Given the description of an element on the screen output the (x, y) to click on. 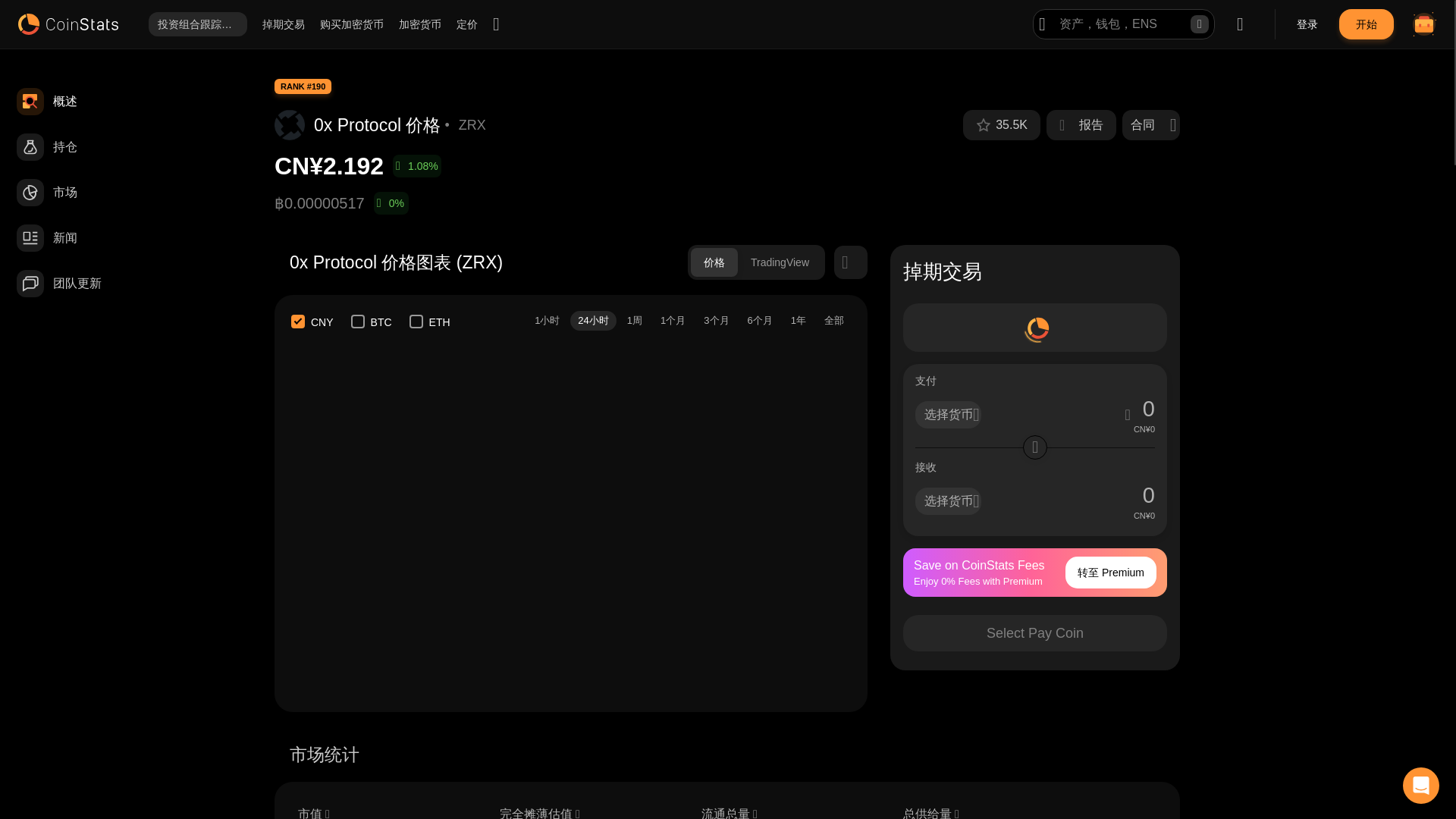
35.5K (1011, 125)
ZRX (472, 125)
35.5K (1001, 124)
